Given the description of an element on the screen output the (x, y) to click on. 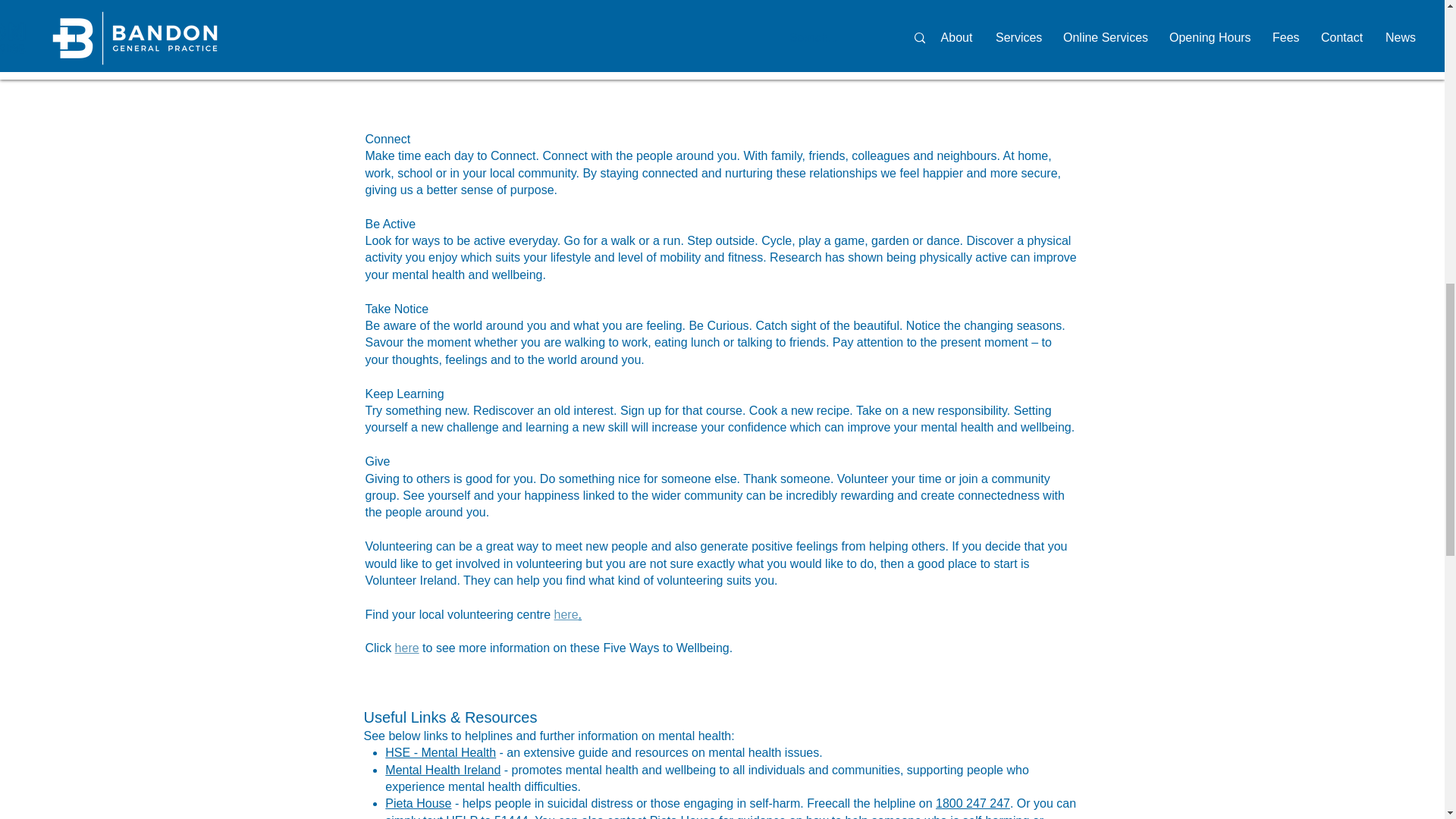
here. (567, 614)
Mental Health Ireland (442, 769)
here (733, 68)
here (406, 647)
HSE - Mental Health (440, 752)
Pieta House (418, 802)
